Given the description of an element on the screen output the (x, y) to click on. 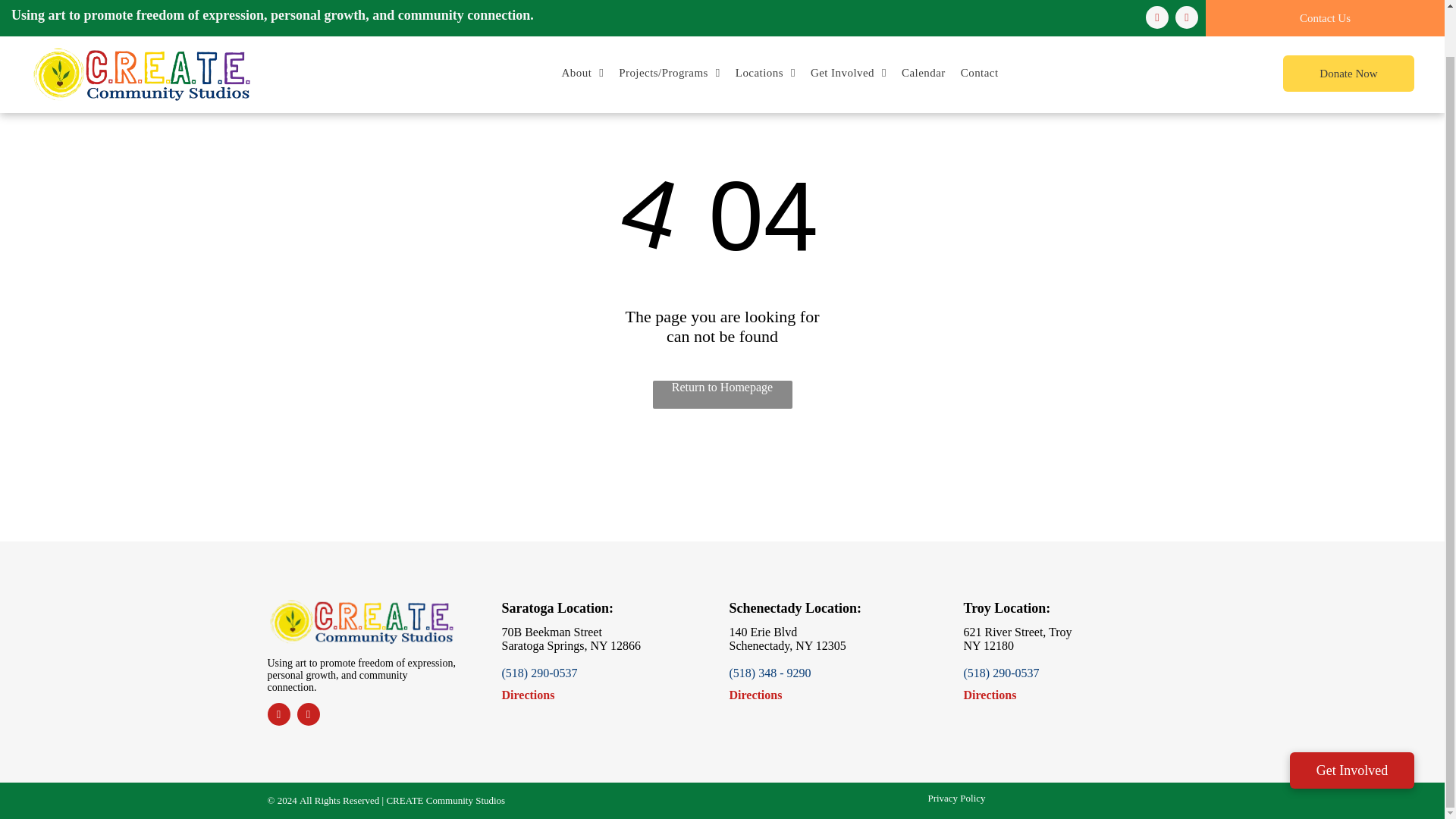
About (582, 23)
